Given the description of an element on the screen output the (x, y) to click on. 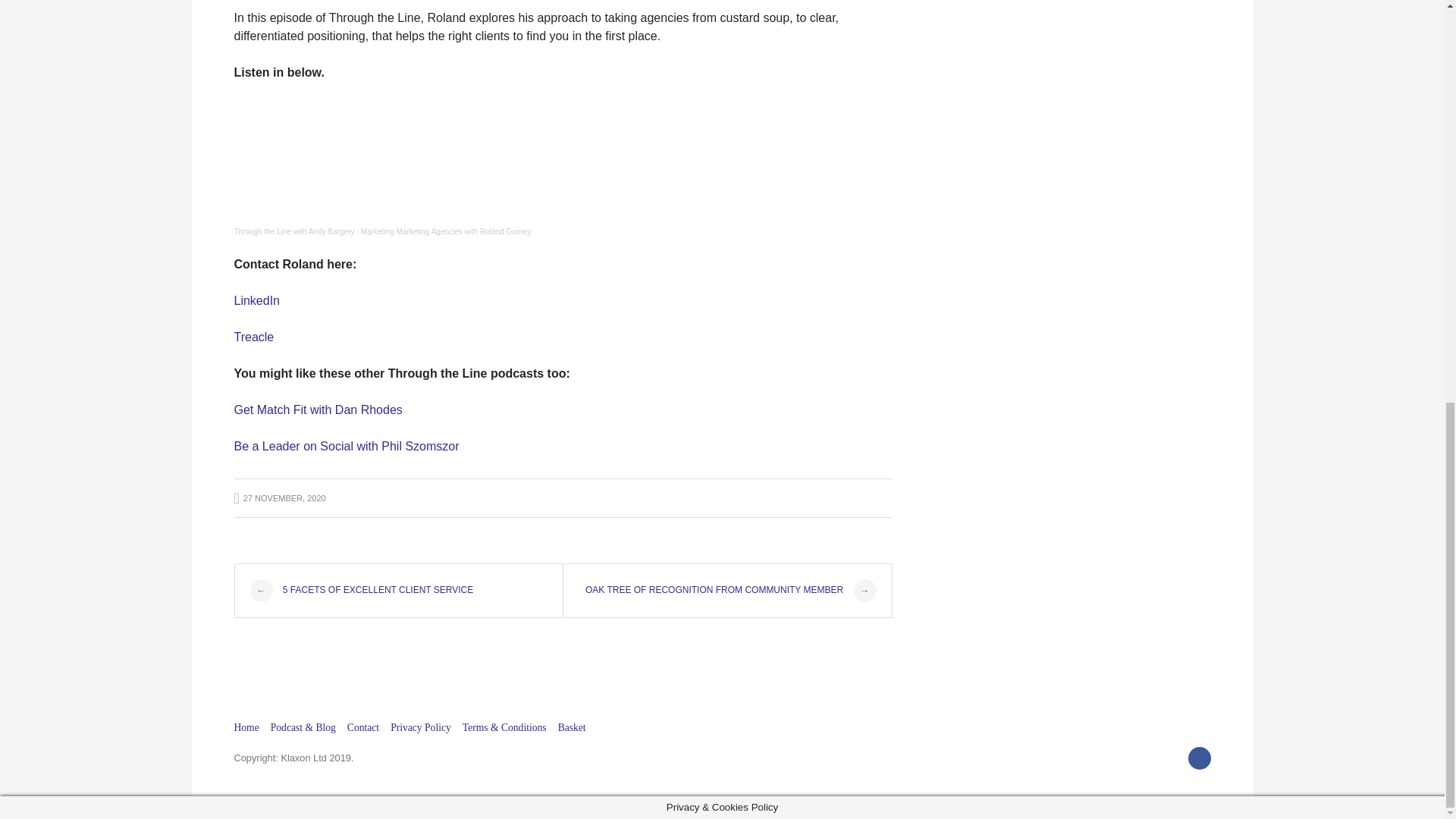
4:16 pm (278, 497)
Through the Line with Andy Bargery (292, 231)
27 NOVEMBER, 2020 (278, 497)
Facebook (1197, 757)
Marketing Marketing Agencies with Roland Gurney (446, 231)
Treacle (252, 336)
Be a Leader on Social with Phil Szomszor (345, 445)
LinkedIn (255, 300)
Marketing Marketing Agencies with Roland Gurney (446, 231)
Through the Line with Andy Bargery (292, 231)
